Given the description of an element on the screen output the (x, y) to click on. 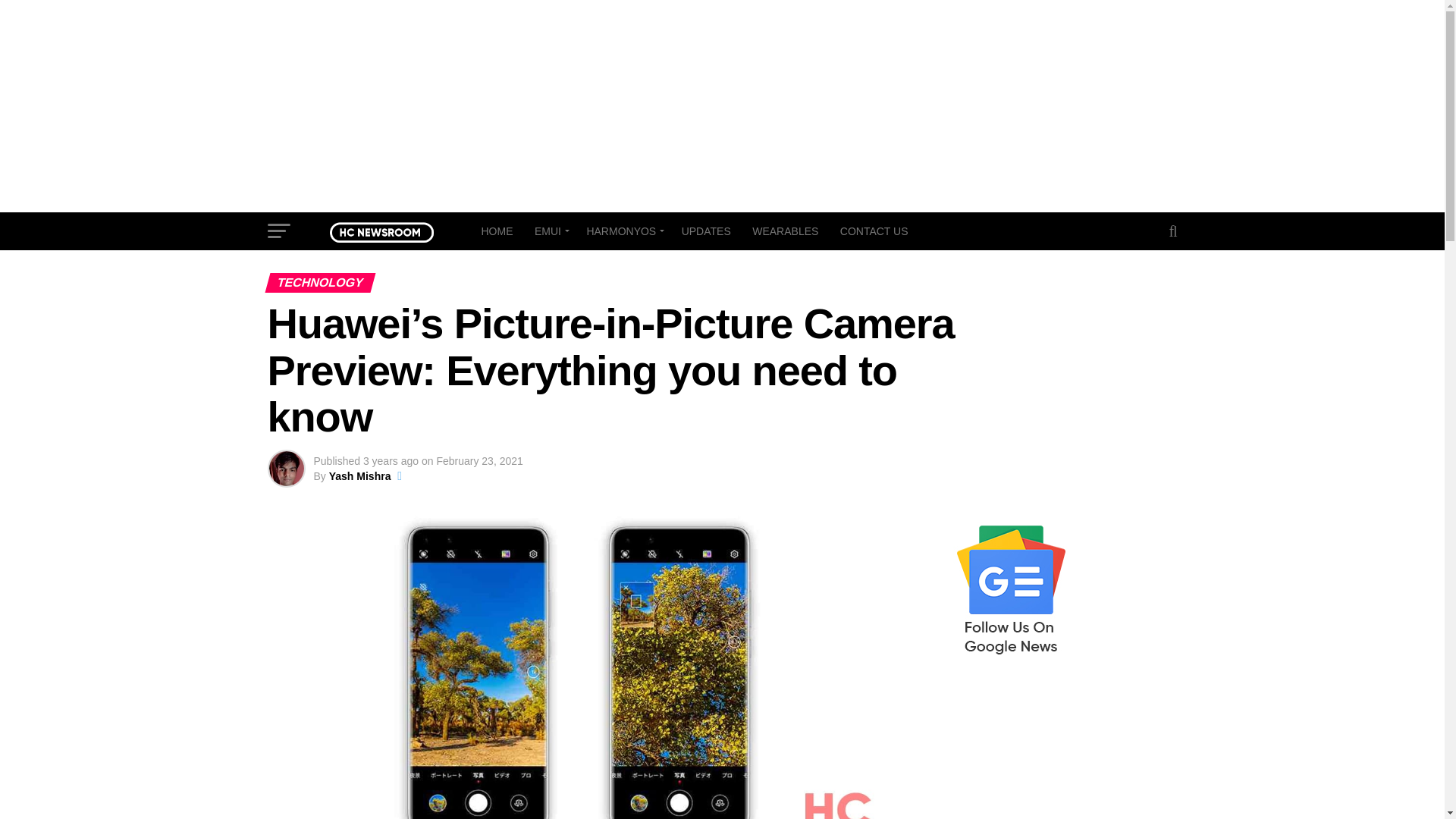
UPDATES (705, 231)
EMUI (549, 231)
HOME (496, 231)
Posts by Yash Mishra (360, 476)
HARMONYOS (622, 231)
